Given the description of an element on the screen output the (x, y) to click on. 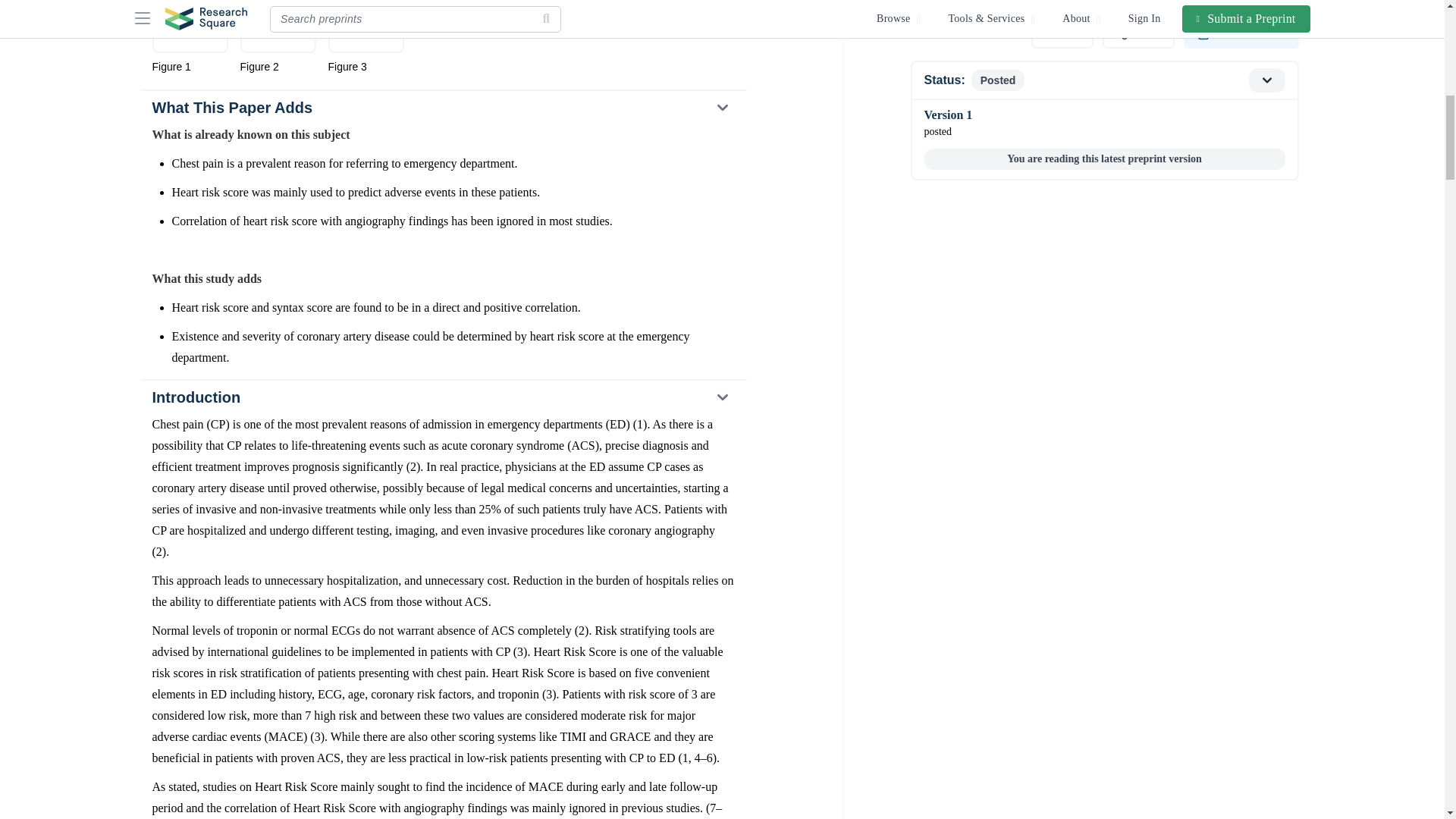
Figure 3 (365, 37)
Figure 2 (277, 37)
Introduction (442, 397)
Figure 1 (189, 37)
What This Paper Adds (442, 107)
